Given the description of an element on the screen output the (x, y) to click on. 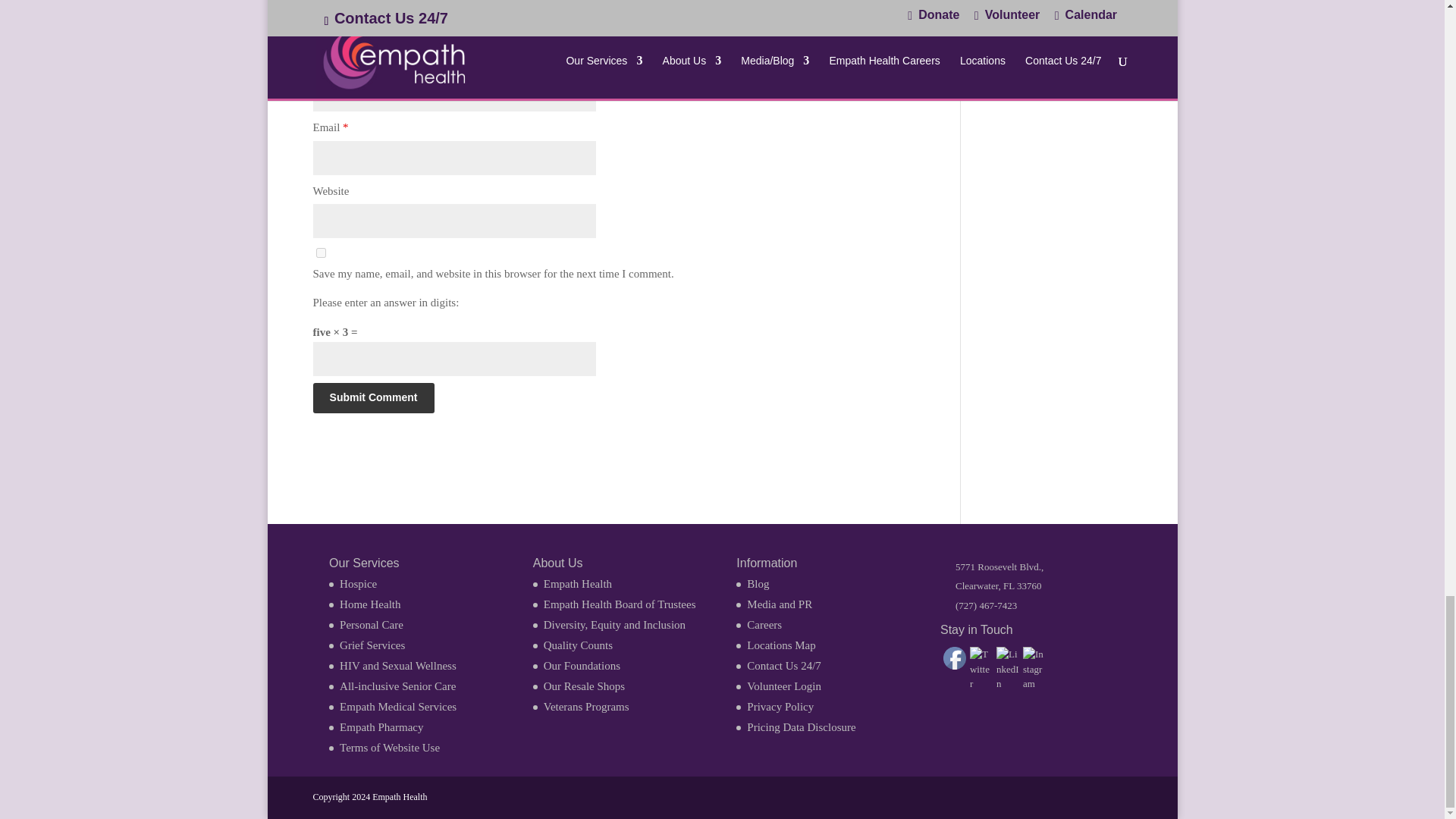
Facebook (954, 658)
Submit Comment (373, 398)
Submit Comment (373, 398)
yes (319, 252)
